Given the description of an element on the screen output the (x, y) to click on. 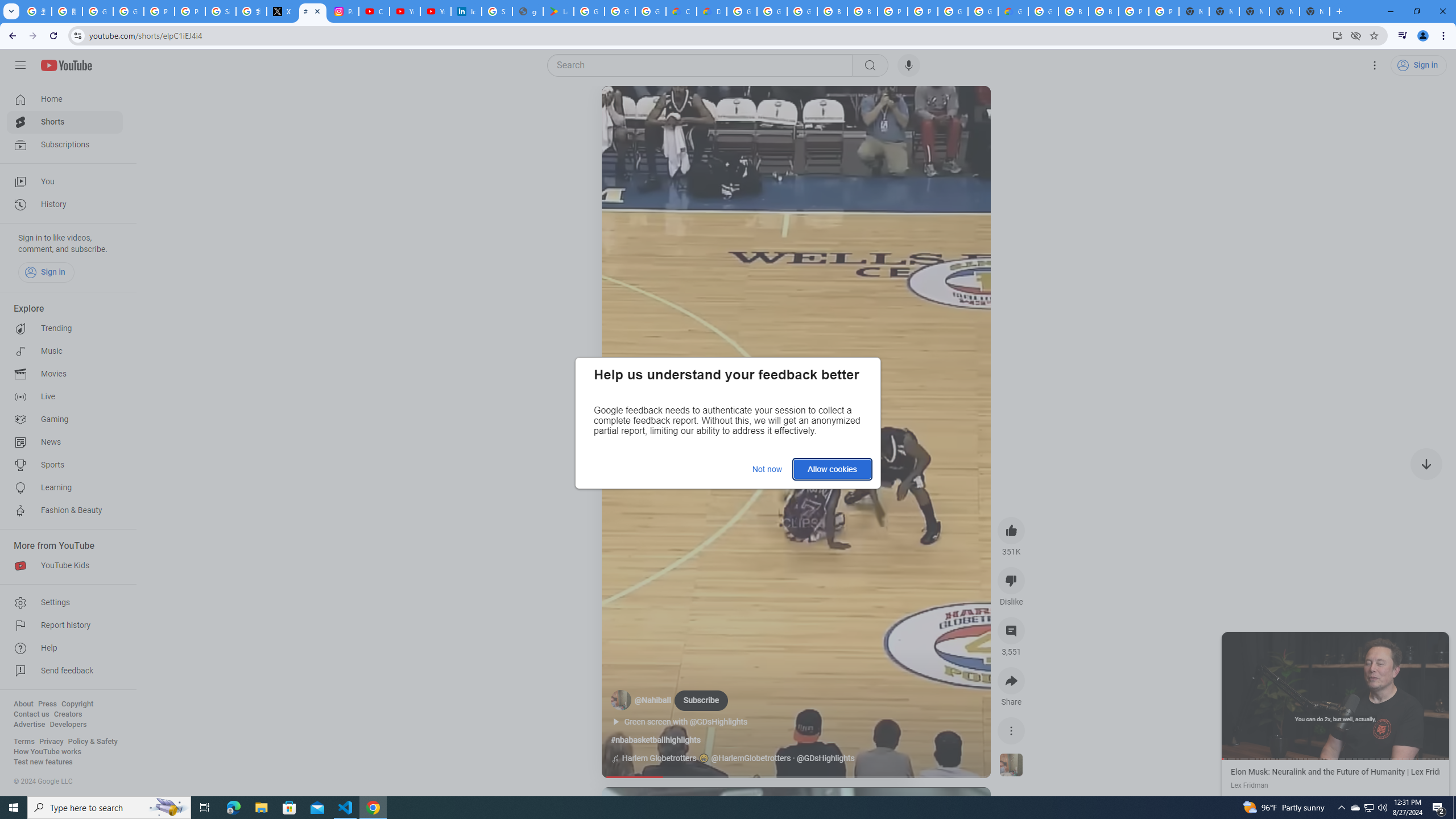
Privacy (51, 741)
Browse Chrome as a guest - Computer - Google Chrome Help (832, 11)
Next video (1426, 463)
Customer Care | Google Cloud (681, 11)
Mute (657, 108)
How YouTube works (47, 751)
Sports (64, 464)
Google Cloud Platform (741, 11)
Mute (660, 108)
Install YouTube (1336, 35)
